Given the description of an element on the screen output the (x, y) to click on. 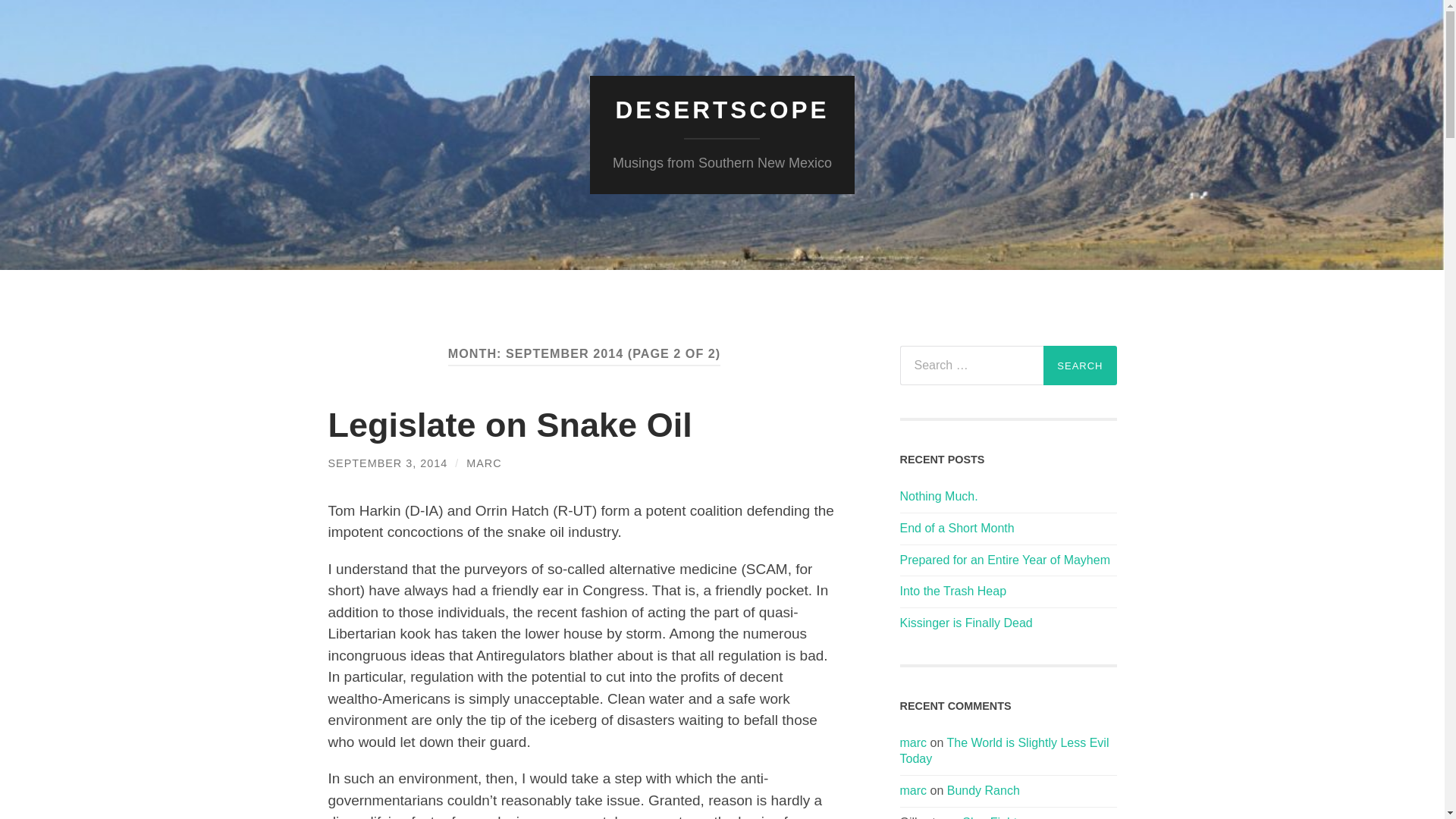
The World is Slightly Less Evil Today (1003, 750)
Nothing Much. (1007, 496)
Search (1079, 364)
DESERTSCOPE (721, 109)
Search (1079, 364)
Search (1079, 364)
Into the Trash Heap (1007, 591)
Kissinger is Finally Dead (1007, 623)
Bundy Ranch (983, 789)
SEPTEMBER 3, 2014 (386, 463)
Legislate on Snake Oil (509, 424)
marc (912, 789)
Posts by marc (482, 463)
End of a Short Month (1007, 528)
marc (912, 742)
